Given the description of an element on the screen output the (x, y) to click on. 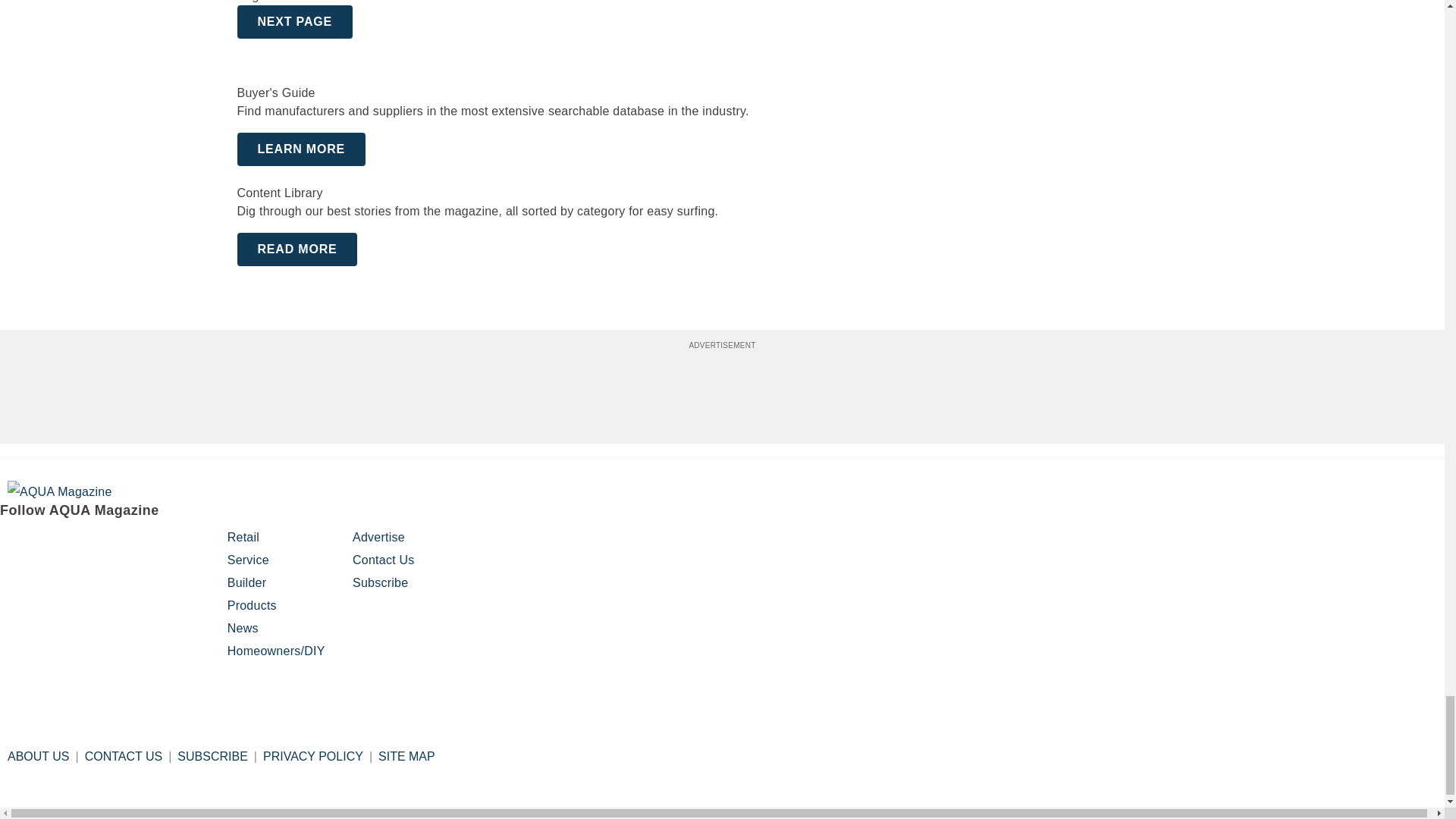
Twitter X icon (129, 543)
Facebook icon (13, 543)
LinkedIn icon (172, 543)
Instagram icon (52, 543)
Pinterest icon (90, 543)
